Given the description of an element on the screen output the (x, y) to click on. 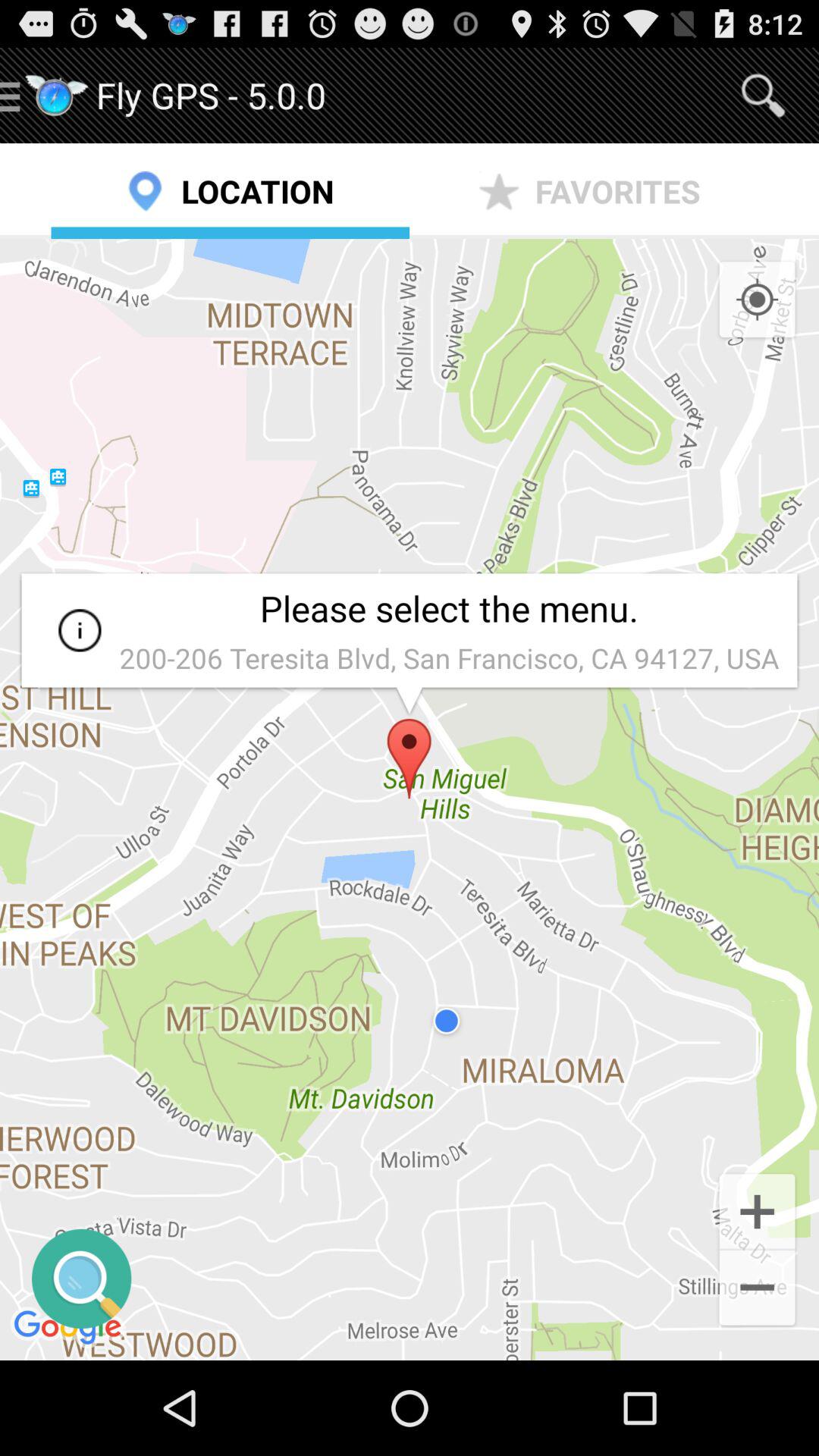
open app above the favorites (763, 95)
